Given the description of an element on the screen output the (x, y) to click on. 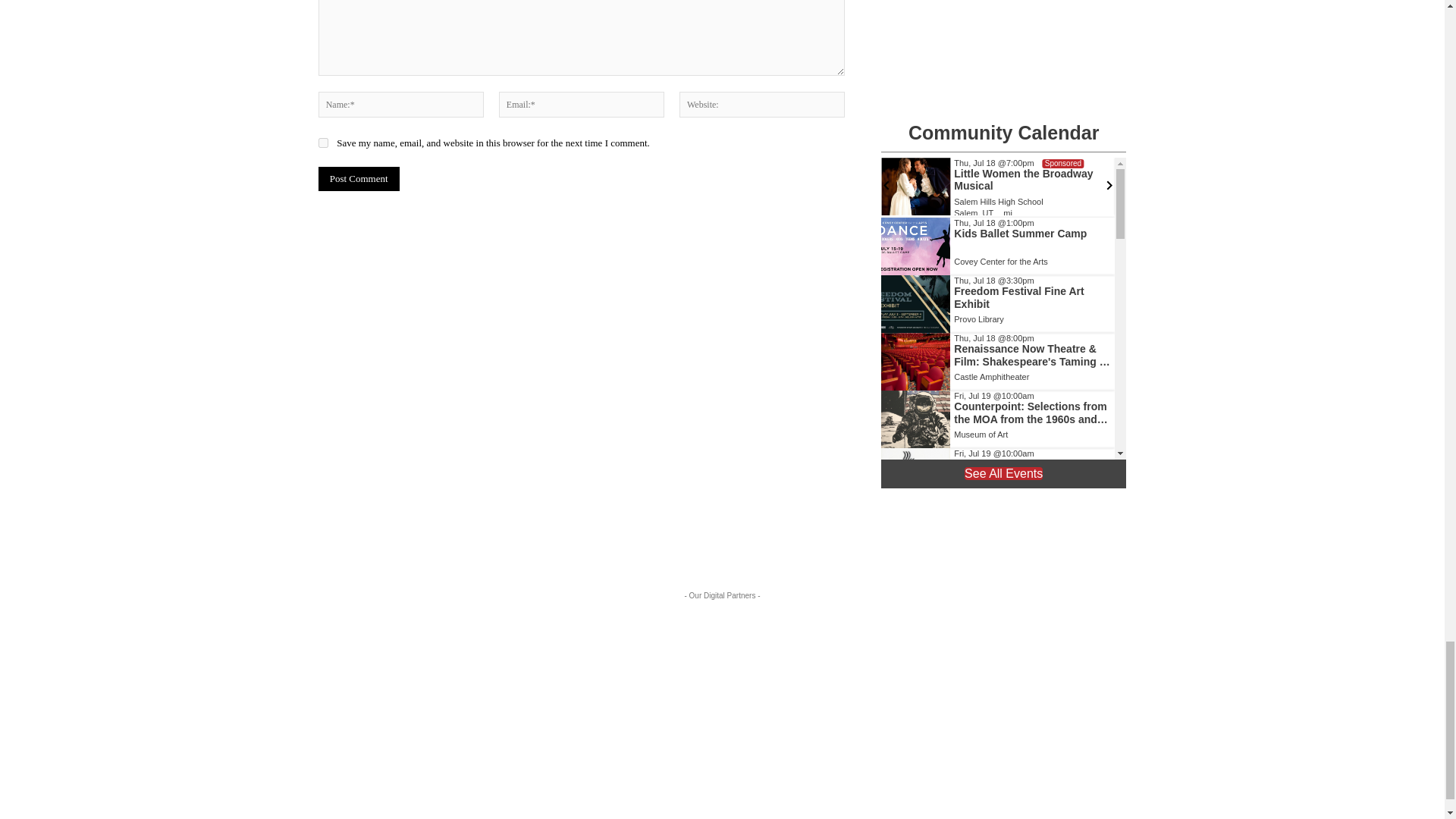
yes (323, 143)
Post Comment (358, 178)
